Given the description of an element on the screen output the (x, y) to click on. 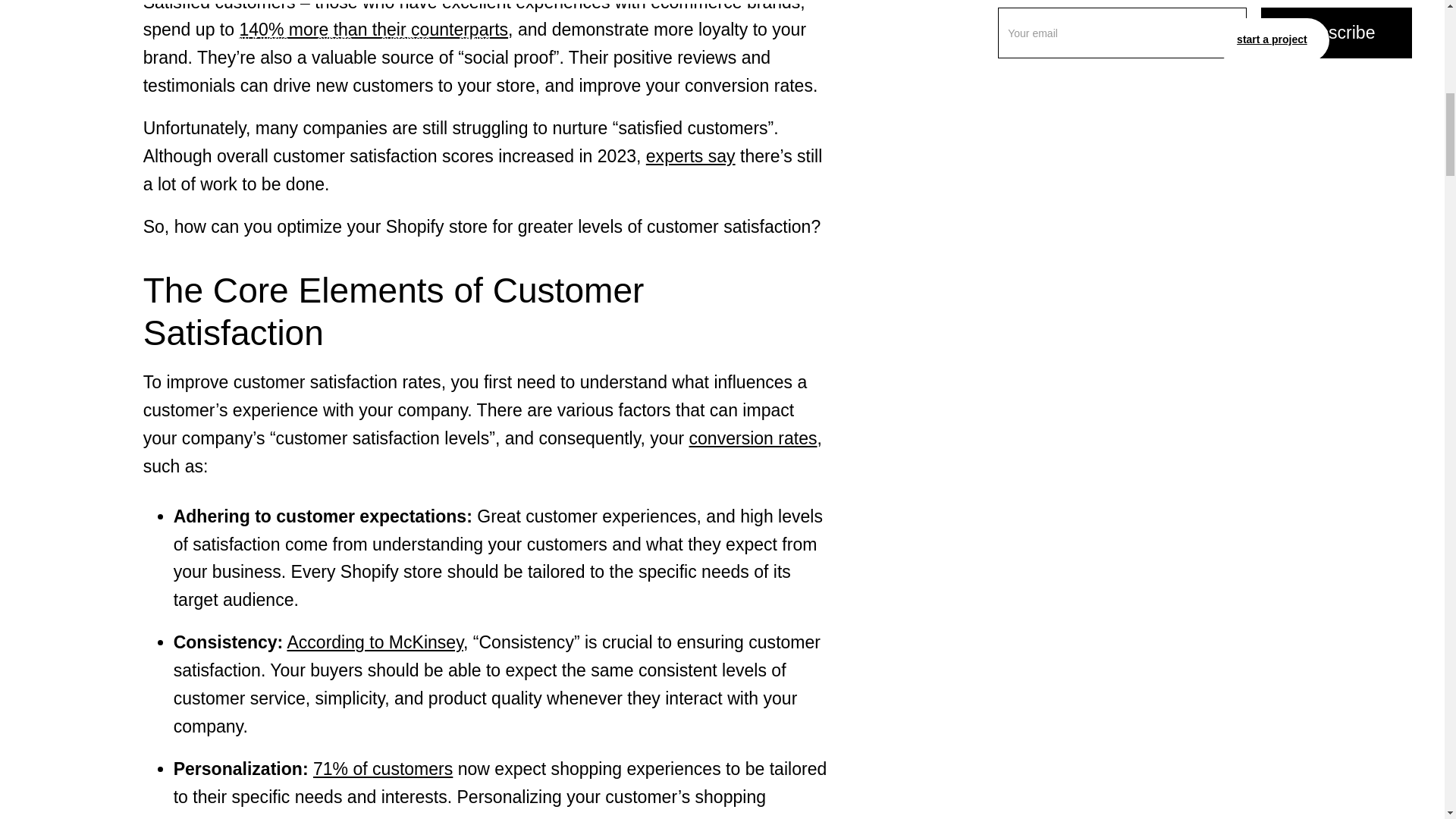
conversion rates (752, 437)
experts say (690, 156)
Subscribe (1336, 32)
Subscribe (1336, 32)
According to McKinsey (374, 641)
